Given the description of an element on the screen output the (x, y) to click on. 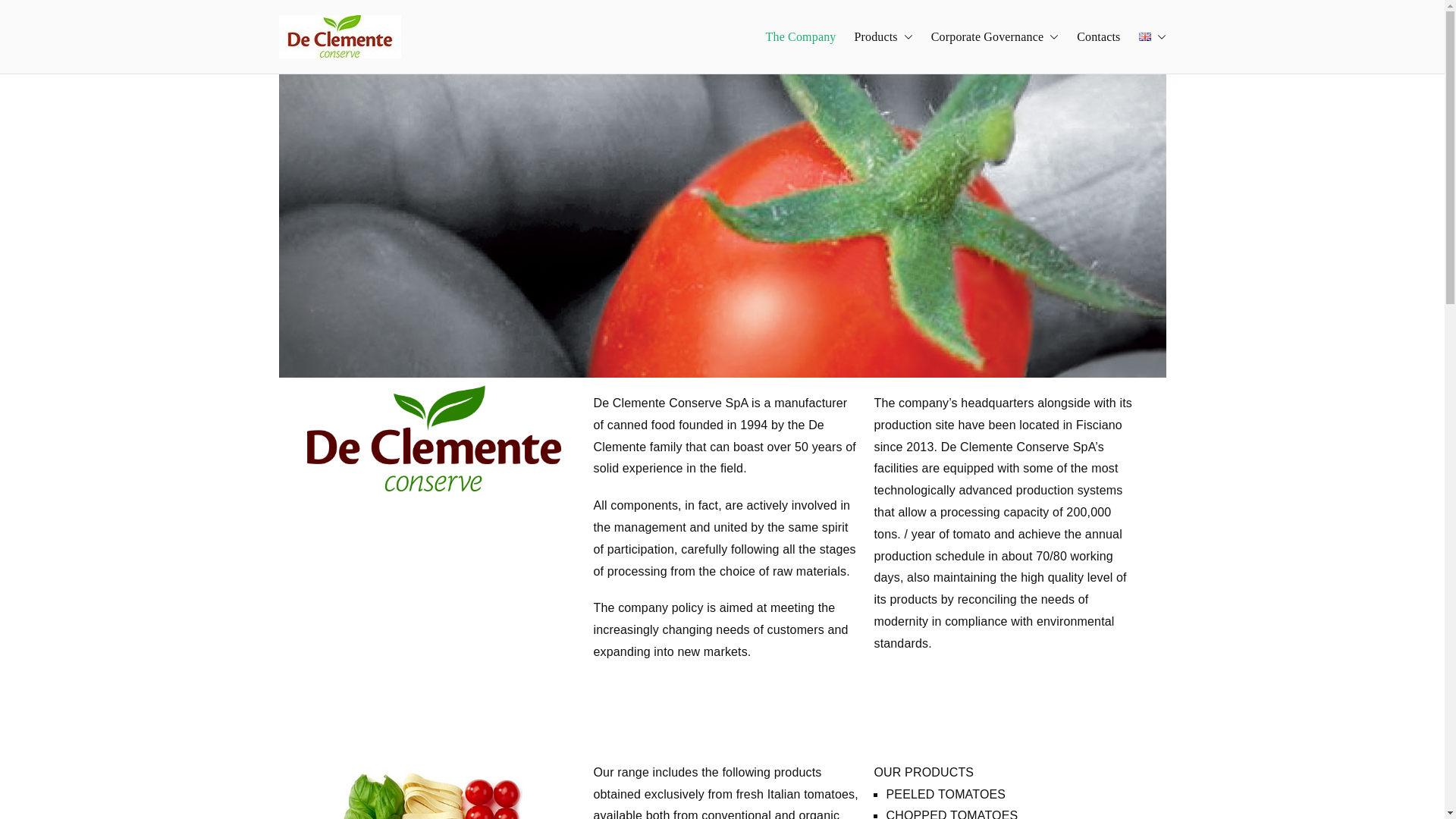
Products (882, 36)
De Clemente Conserve SPA (500, 47)
Contacts (1098, 36)
Corporate Governance (994, 36)
The Company (800, 36)
